Given the description of an element on the screen output the (x, y) to click on. 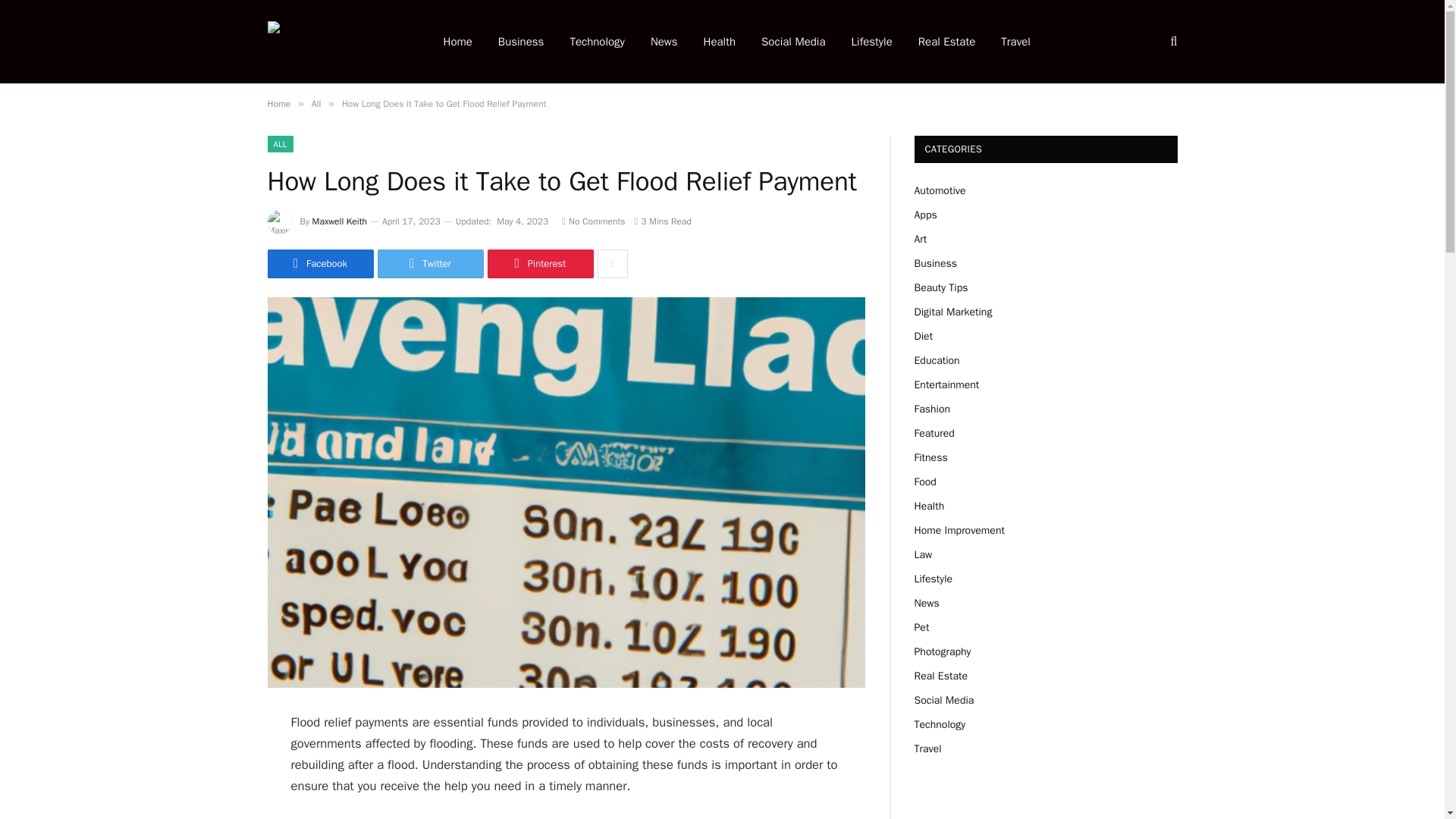
Dcrazed.net (334, 41)
Real Estate (946, 41)
Show More Social Sharing (611, 263)
Technology (596, 41)
Pinterest (539, 263)
Posts by Maxwell Keith (339, 221)
Maxwell Keith (339, 221)
Facebook (319, 263)
No Comments (593, 221)
